Given the description of an element on the screen output the (x, y) to click on. 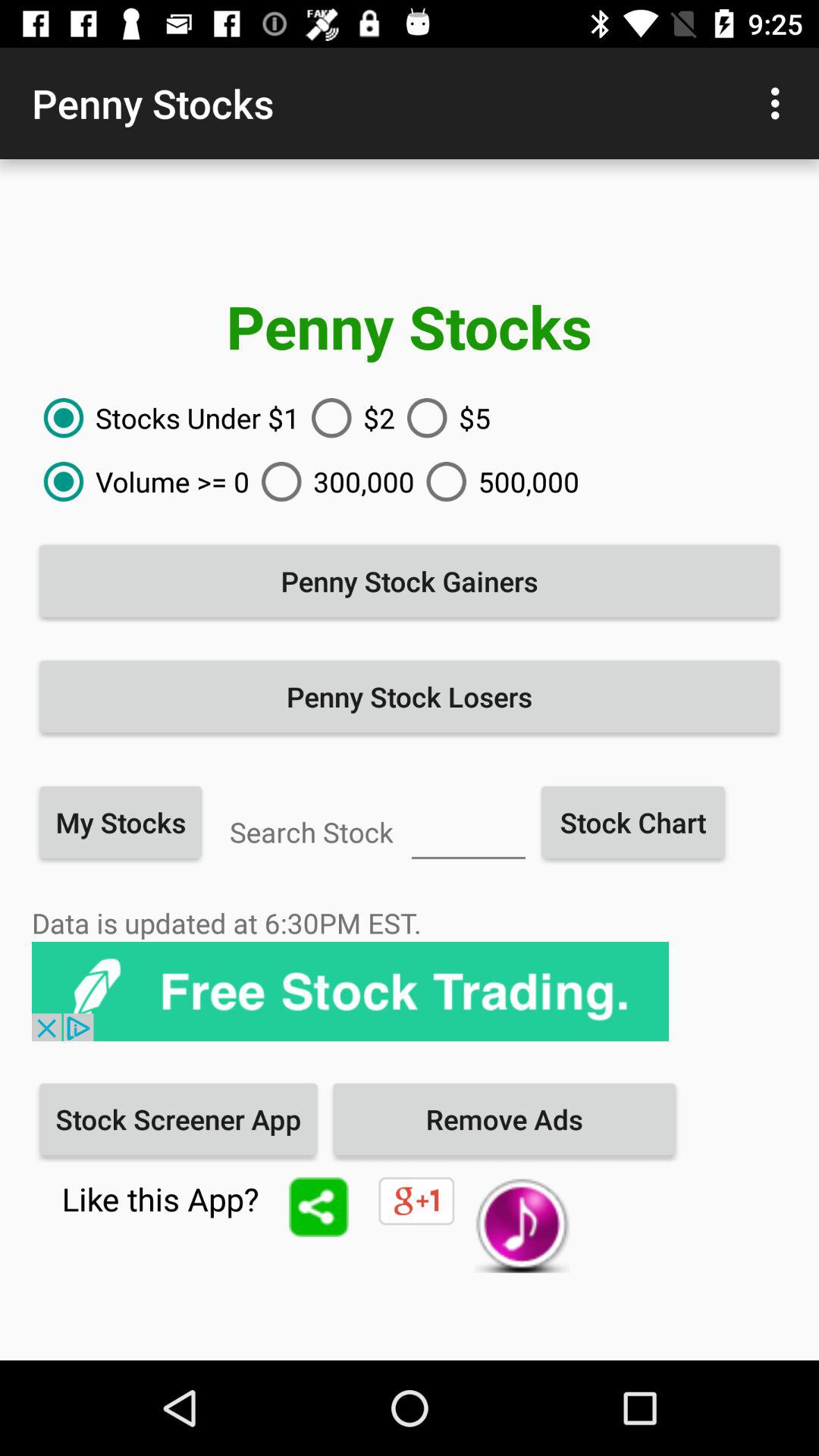
enter stock search query (468, 829)
